Given the description of an element on the screen output the (x, y) to click on. 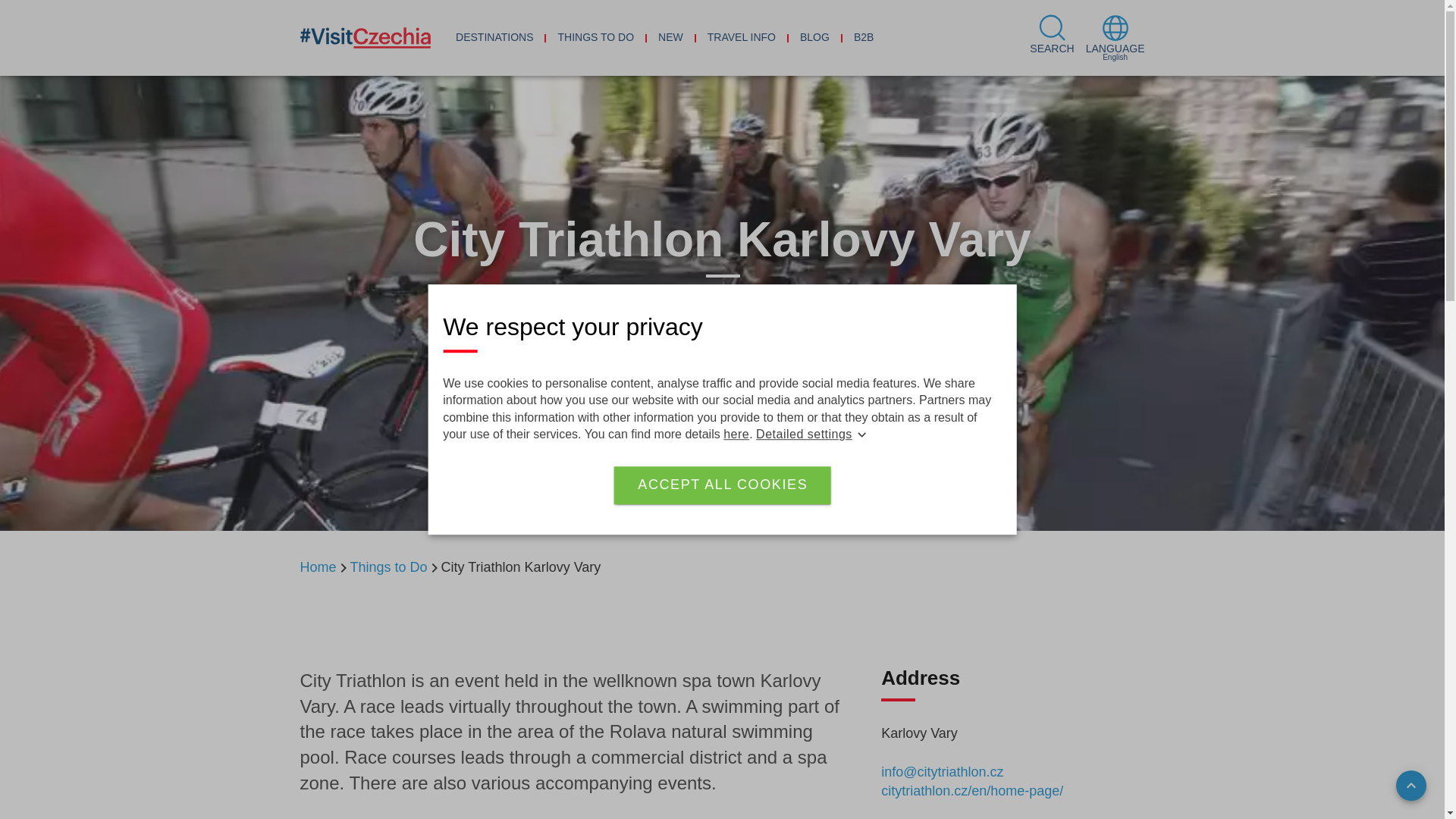
Search (1051, 37)
DESTINATIONS (494, 38)
Home (317, 566)
TRAVEL INFO (741, 38)
Things to Do (389, 566)
THINGS TO DO (595, 38)
Select language (1115, 37)
